Given the description of an element on the screen output the (x, y) to click on. 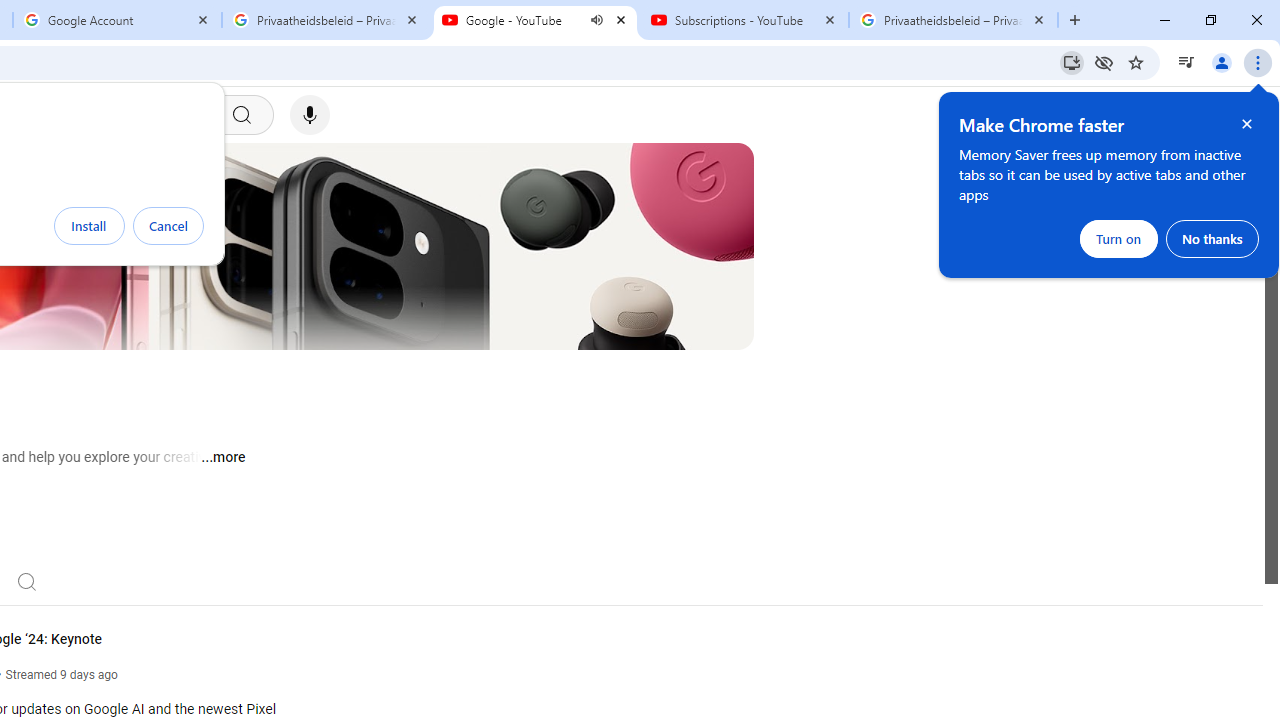
Cancel (168, 225)
Google - YouTube - Audio playing (535, 20)
Turn on (1119, 238)
No thanks (1212, 238)
Subscriptions - YouTube (744, 20)
Google Account (116, 20)
Install (89, 225)
